Given the description of an element on the screen output the (x, y) to click on. 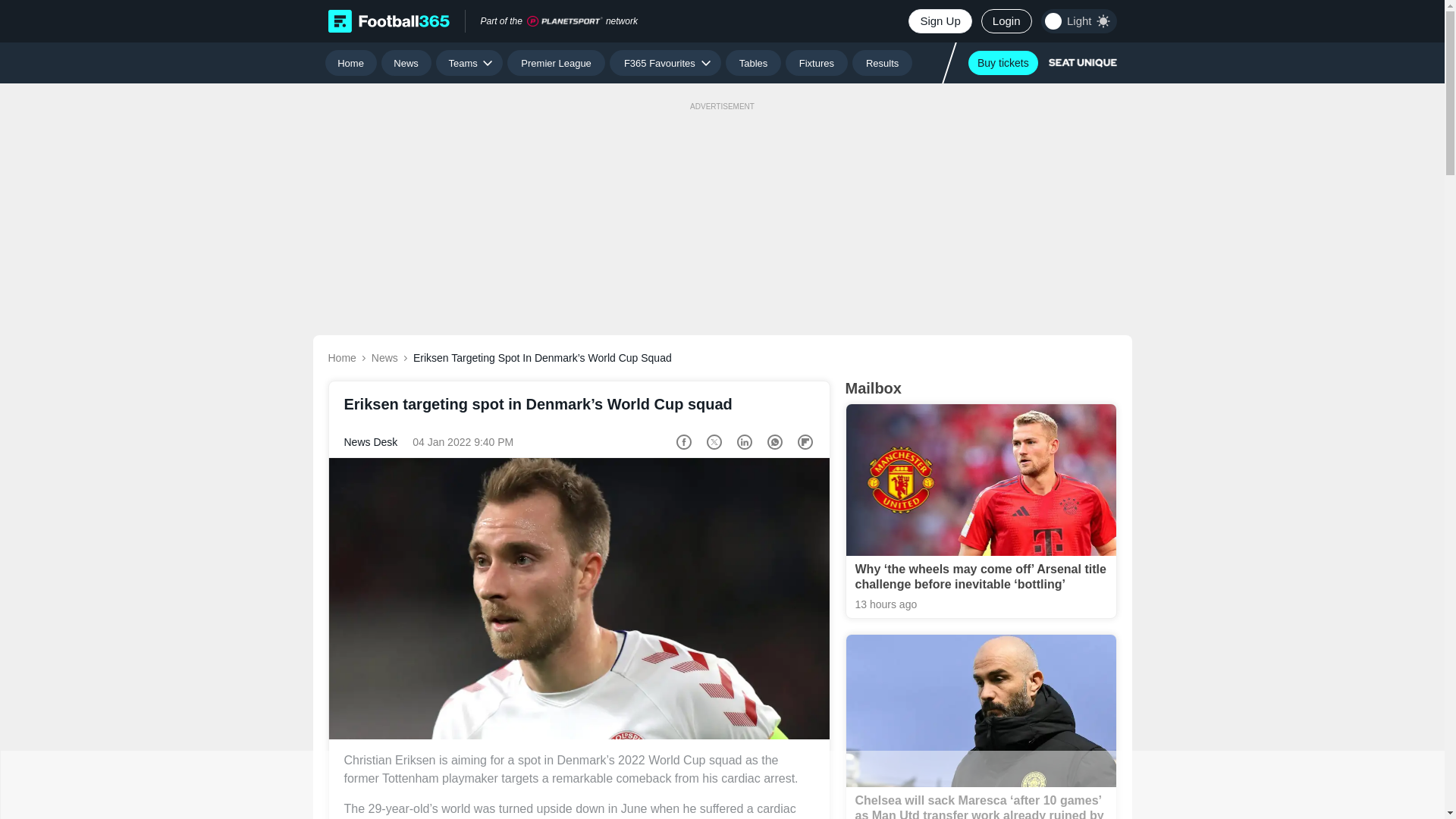
Fixtures (817, 62)
Login (1006, 21)
Home (349, 62)
Tables (752, 62)
3rd party ad content (721, 203)
News (405, 62)
Results (881, 62)
Teams (468, 62)
Sign Up (939, 21)
Premier League (555, 62)
F365 Favourites (665, 62)
3rd party ad content (721, 785)
